Given the description of an element on the screen output the (x, y) to click on. 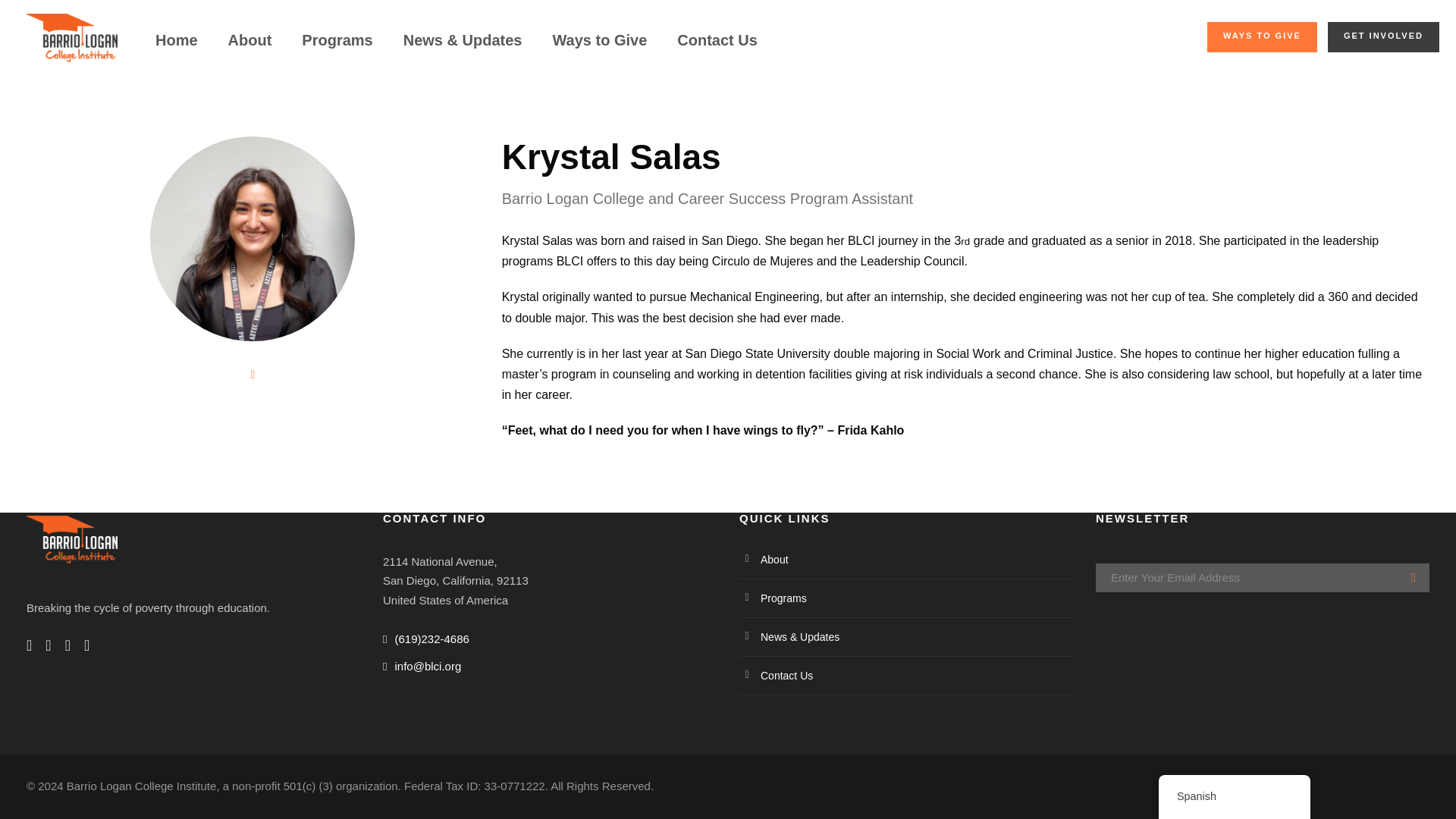
Krystal Salas (252, 238)
About (250, 47)
Contact Us (717, 47)
Ways to Give (598, 47)
Home (176, 47)
Programs (336, 47)
